Given the description of an element on the screen output the (x, y) to click on. 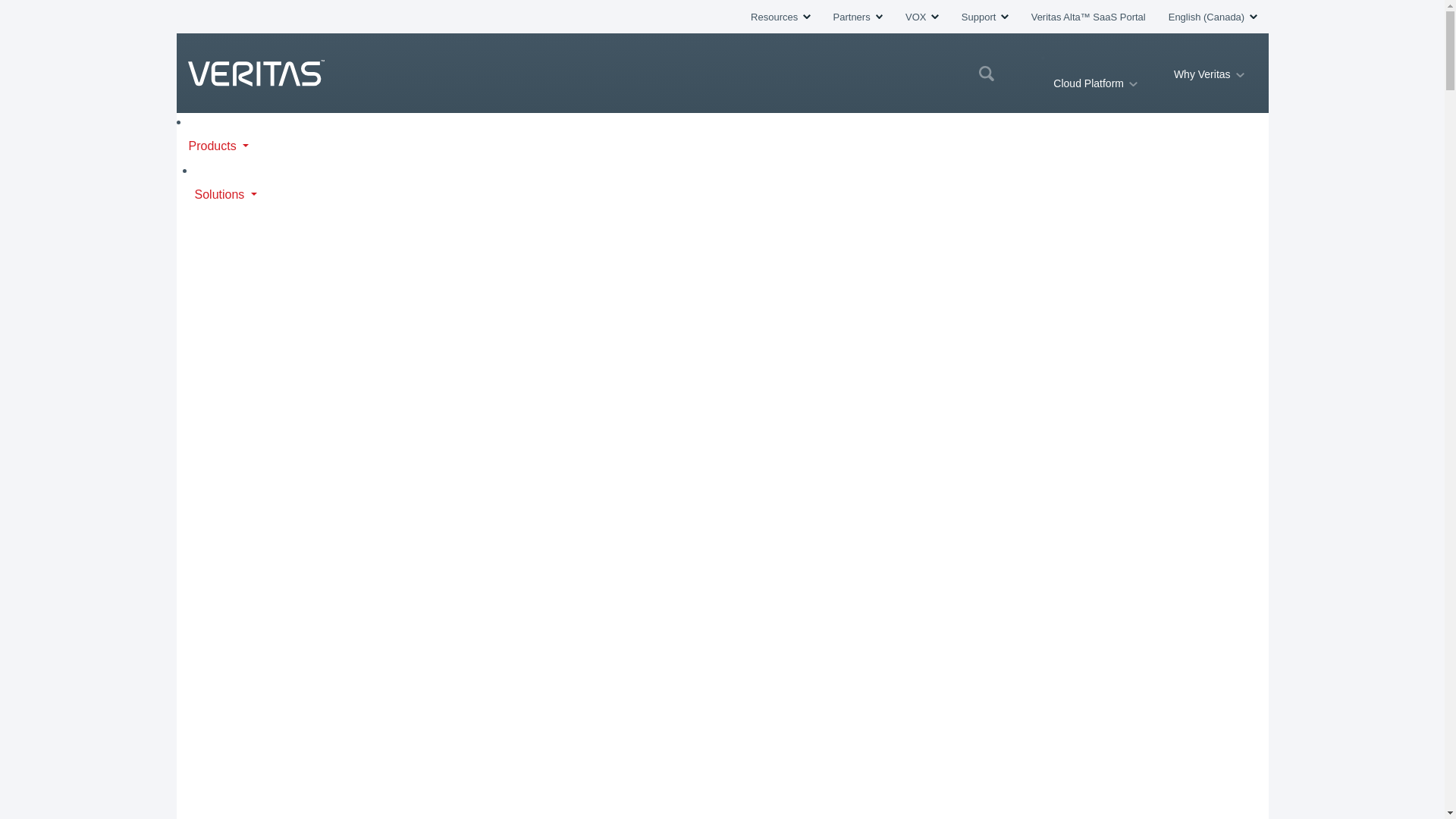
Resources (780, 16)
Support (984, 16)
VOX (922, 16)
Partners (857, 16)
